Given the description of an element on the screen output the (x, y) to click on. 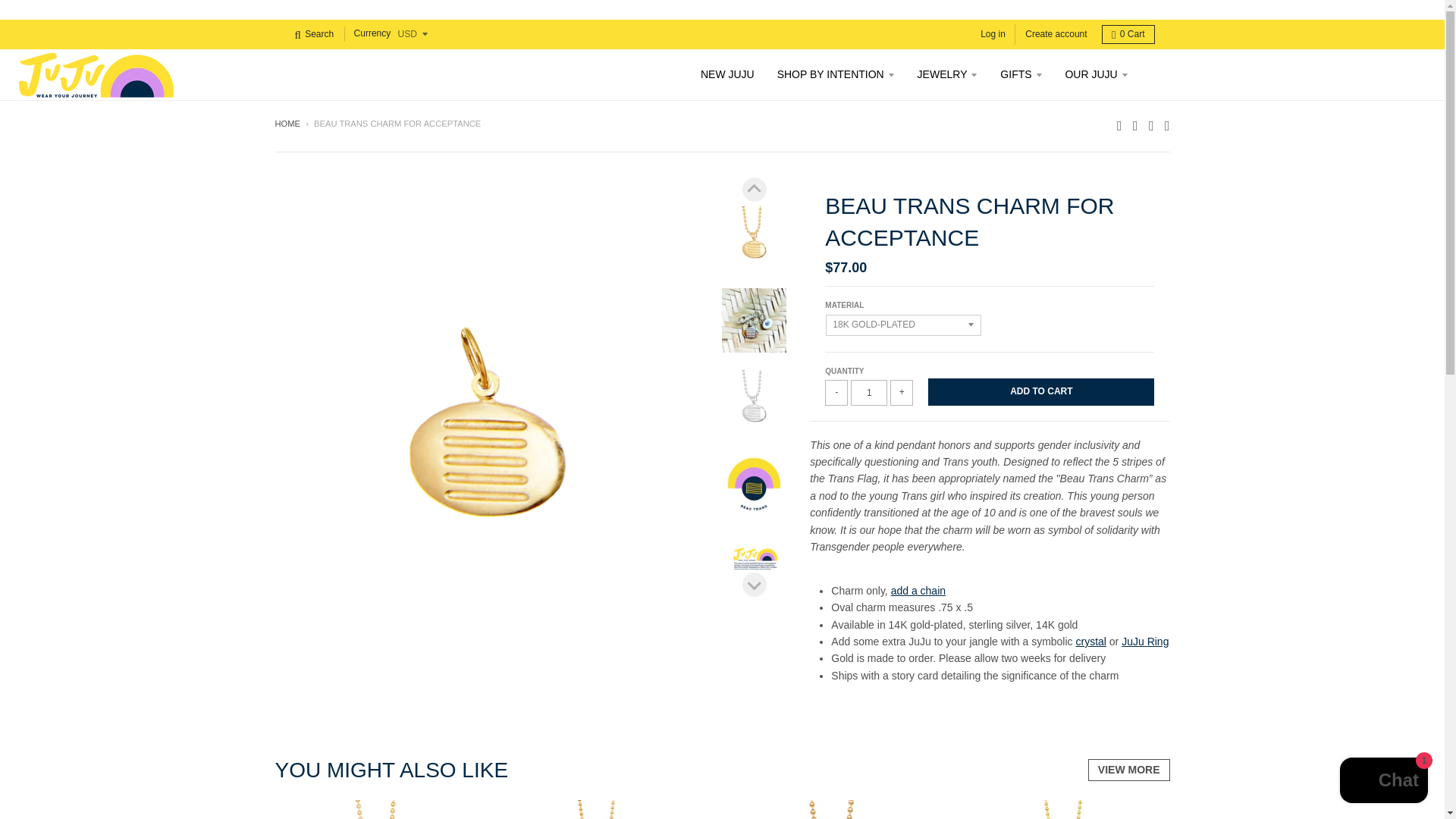
0 Cart (1128, 34)
Log in (992, 34)
JuJu Supply Co. on Instagram (1151, 124)
GIFTS (1020, 73)
Shopify online store chat (1383, 781)
Create account (1055, 34)
Search (313, 34)
OUR JUJU (1095, 73)
Back to the frontpage (287, 122)
JuJu Supply Co. on Pinterest (1167, 124)
JuJu Supply Co. on Twitter (1119, 124)
SHOP BY INTENTION (835, 73)
JEWELRY (947, 73)
JuJu Supply Co. on Facebook (1135, 124)
1 (868, 392)
